Given the description of an element on the screen output the (x, y) to click on. 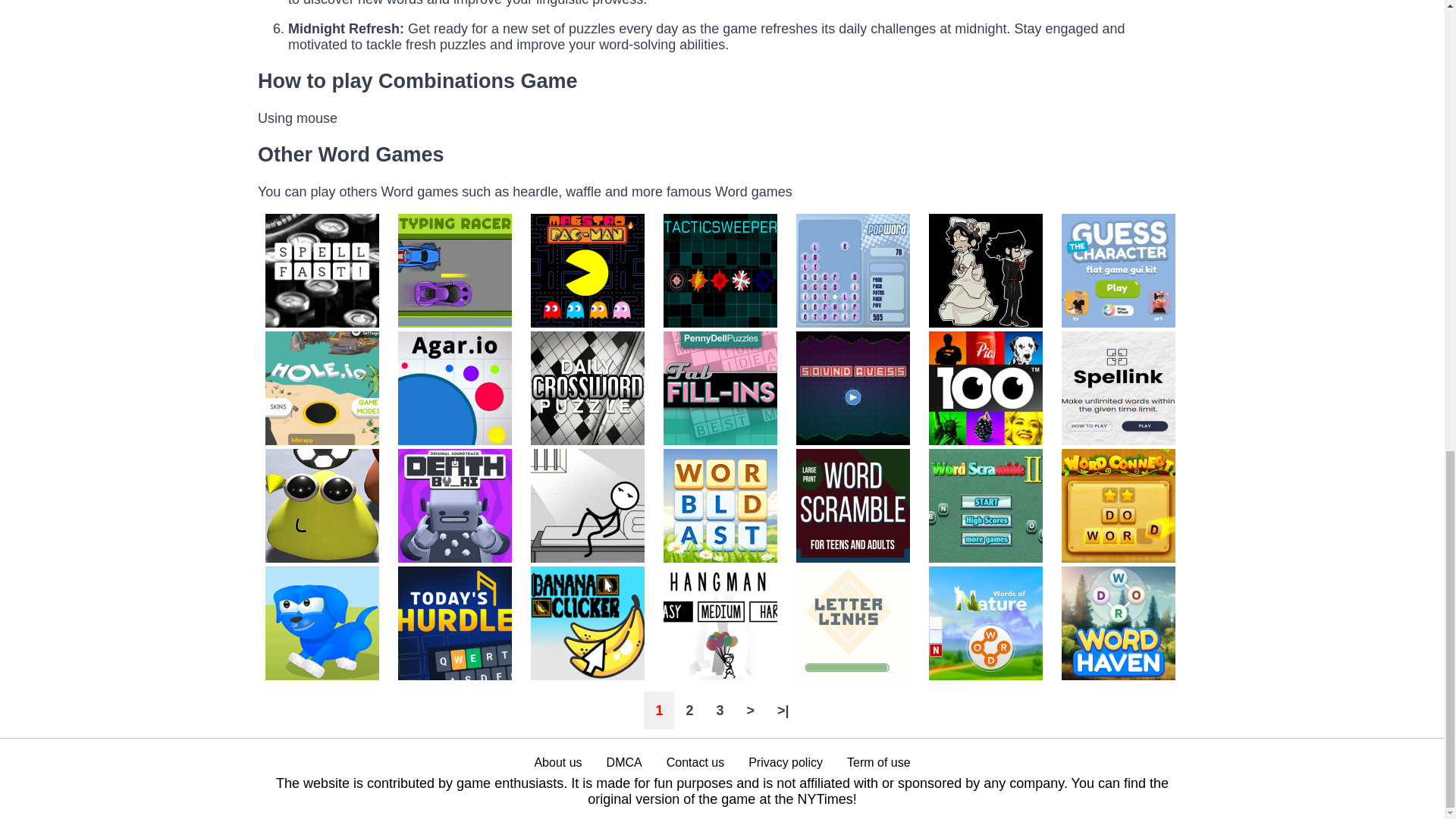
Bou's Revenge (321, 557)
Words Blast (718, 557)
Hole io (321, 440)
Death by AI (453, 557)
Spellink (1116, 440)
Typing Racer (453, 322)
Penny Dell Fill Ins (718, 440)
Agar io (453, 440)
Popword (851, 322)
Married in Red (983, 322)
Tacticsweeper (718, 322)
PacMan (586, 322)
Guess the Character (1116, 322)
Words Story (586, 557)
Sound Guess Word (851, 440)
